Given the description of an element on the screen output the (x, y) to click on. 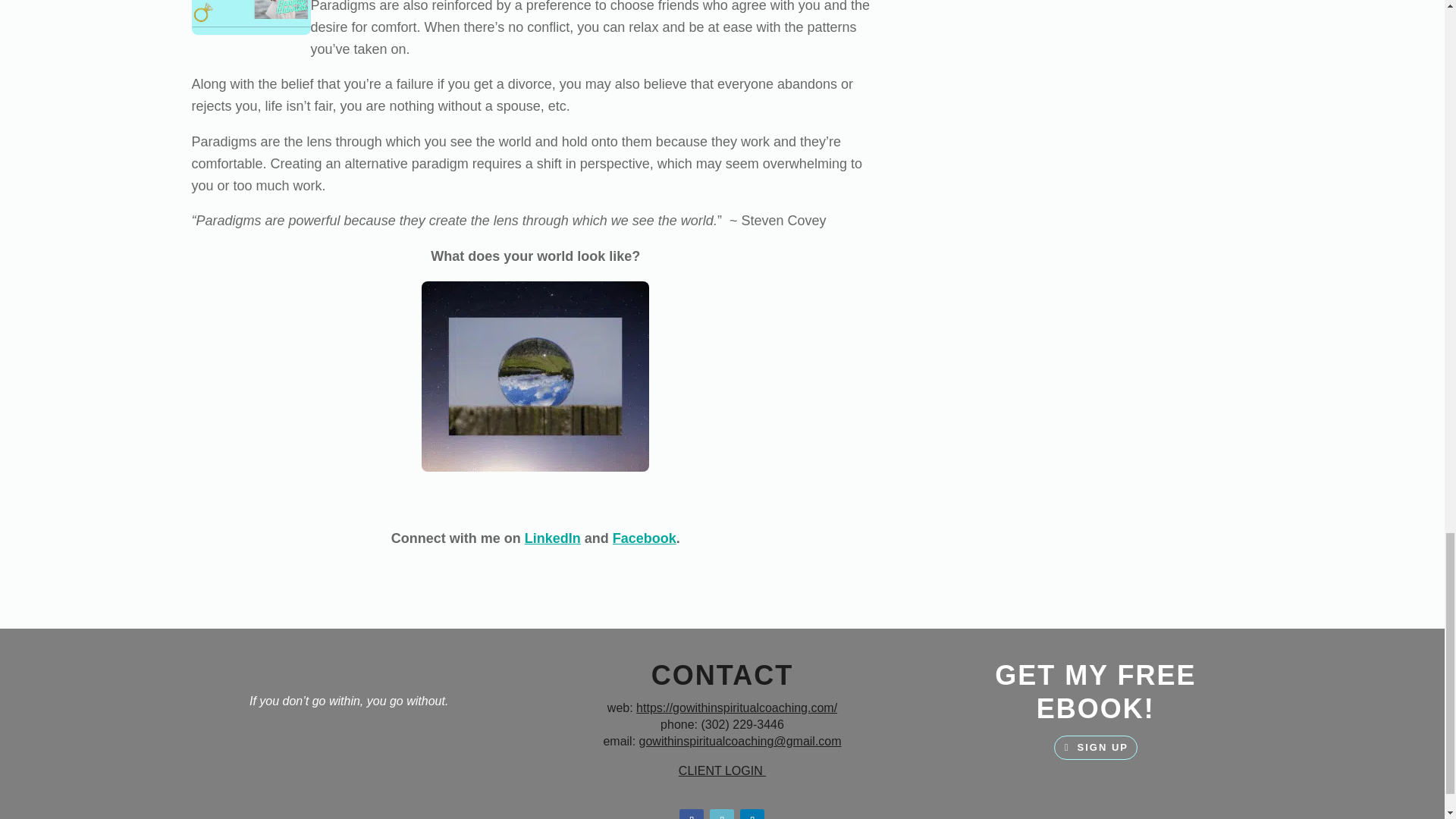
SIGN UP (1095, 747)
Follow on Facebook (691, 814)
LinkedIn (552, 538)
Follow on LinkedIn (751, 814)
CLIENT LOGIN  (721, 770)
Follow on Instagram (721, 814)
Facebook (644, 538)
